Given the description of an element on the screen output the (x, y) to click on. 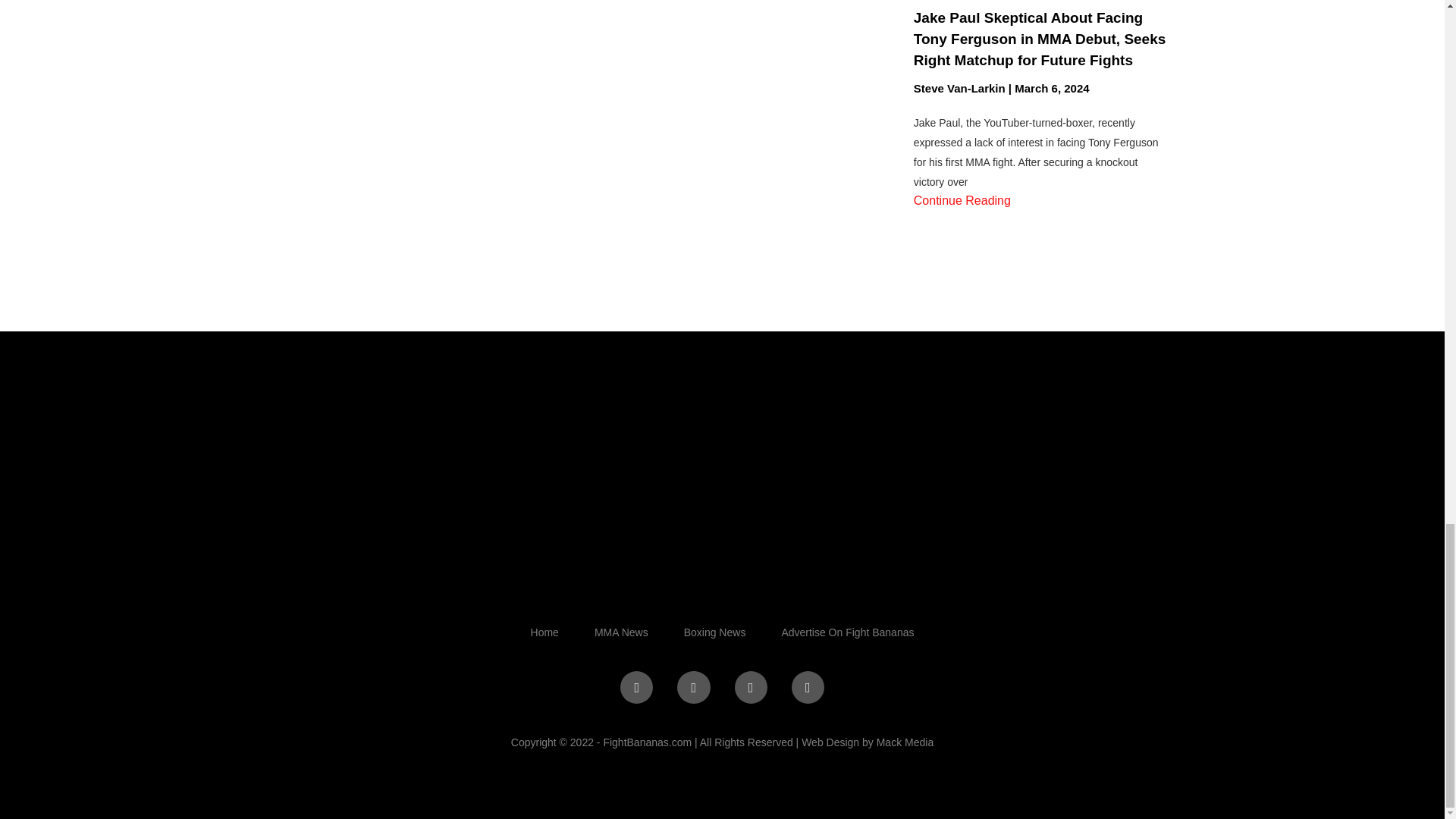
MMA News (620, 632)
Continue Reading (962, 200)
Home (545, 632)
